Given the description of an element on the screen output the (x, y) to click on. 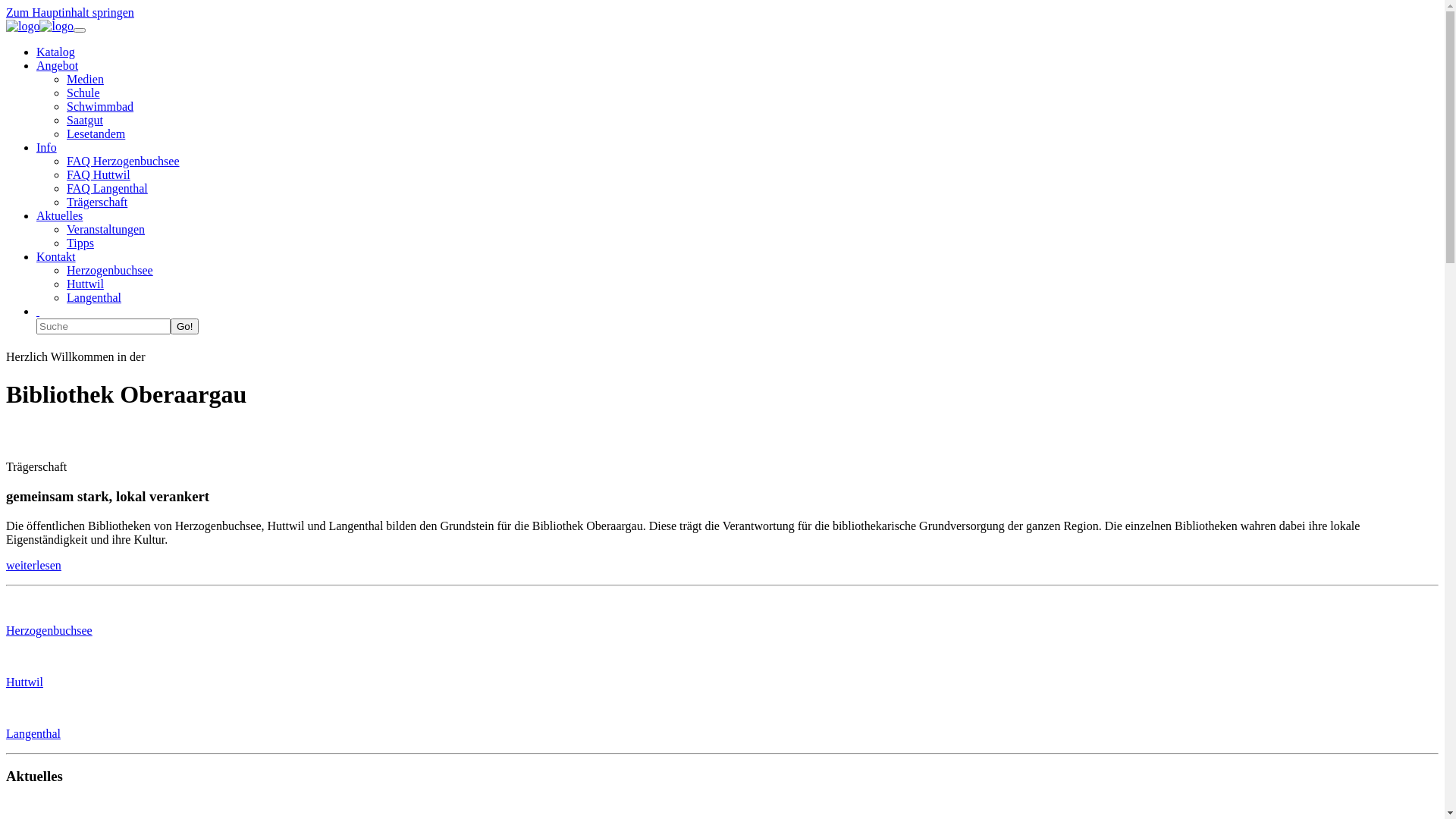
Info Element type: text (46, 147)
FAQ Langenthal Element type: text (106, 188)
Langenthal Element type: text (33, 733)
Katalog Element type: text (55, 51)
Kontakt Element type: text (55, 256)
Schwimmbad Element type: text (99, 106)
Medien Element type: text (84, 78)
Huttwil Element type: text (24, 681)
Lesetandem Element type: text (95, 133)
Go! Element type: text (184, 326)
Langenthal Element type: text (93, 297)
Zum Hauptinhalt springen Element type: text (70, 12)
FAQ Huttwil Element type: text (98, 174)
Herzogenbuchsee Element type: text (109, 269)
Tipps Element type: text (80, 242)
Veranstaltungen Element type: text (105, 228)
Schule Element type: text (83, 92)
Huttwil Element type: text (84, 283)
  Element type: text (37, 310)
Saatgut Element type: text (84, 119)
Aktuelles Element type: text (59, 215)
Herzogenbuchsee Element type: text (49, 630)
weiterlesen Element type: text (33, 564)
Angebot Element type: text (57, 65)
FAQ Herzogenbuchsee Element type: text (122, 160)
